Given the description of an element on the screen output the (x, y) to click on. 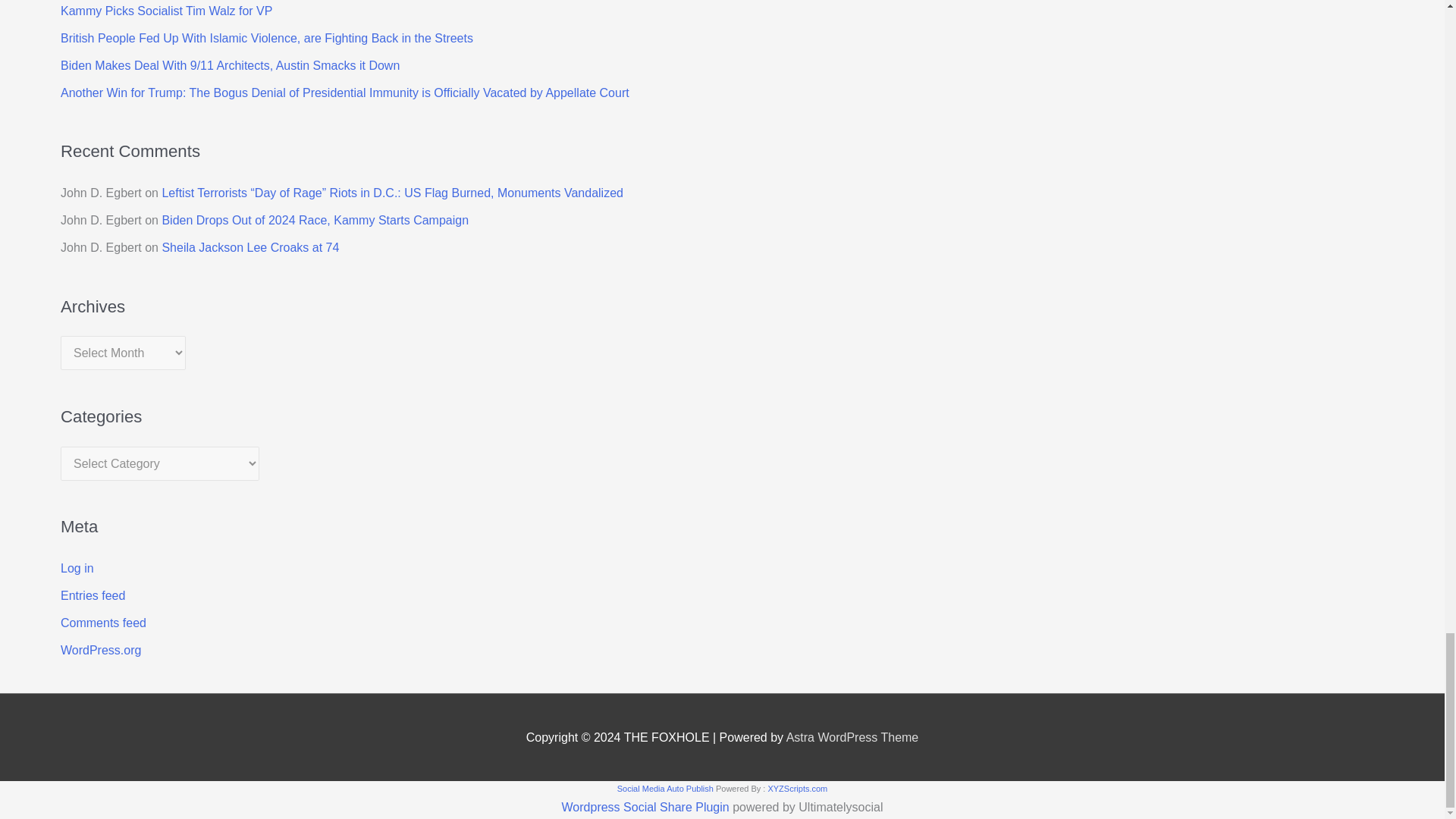
Wordpress Social Share Plugin (647, 807)
Kammy Picks Socialist Tim Walz for VP (166, 10)
WordPress.org (101, 649)
Social Media Auto Publish (665, 788)
Comments feed (104, 622)
Social Media Auto Publish (665, 788)
Sheila Jackson Lee Croaks at 74 (250, 246)
Log in (77, 567)
XYZScripts.com (797, 788)
